Given the description of an element on the screen output the (x, y) to click on. 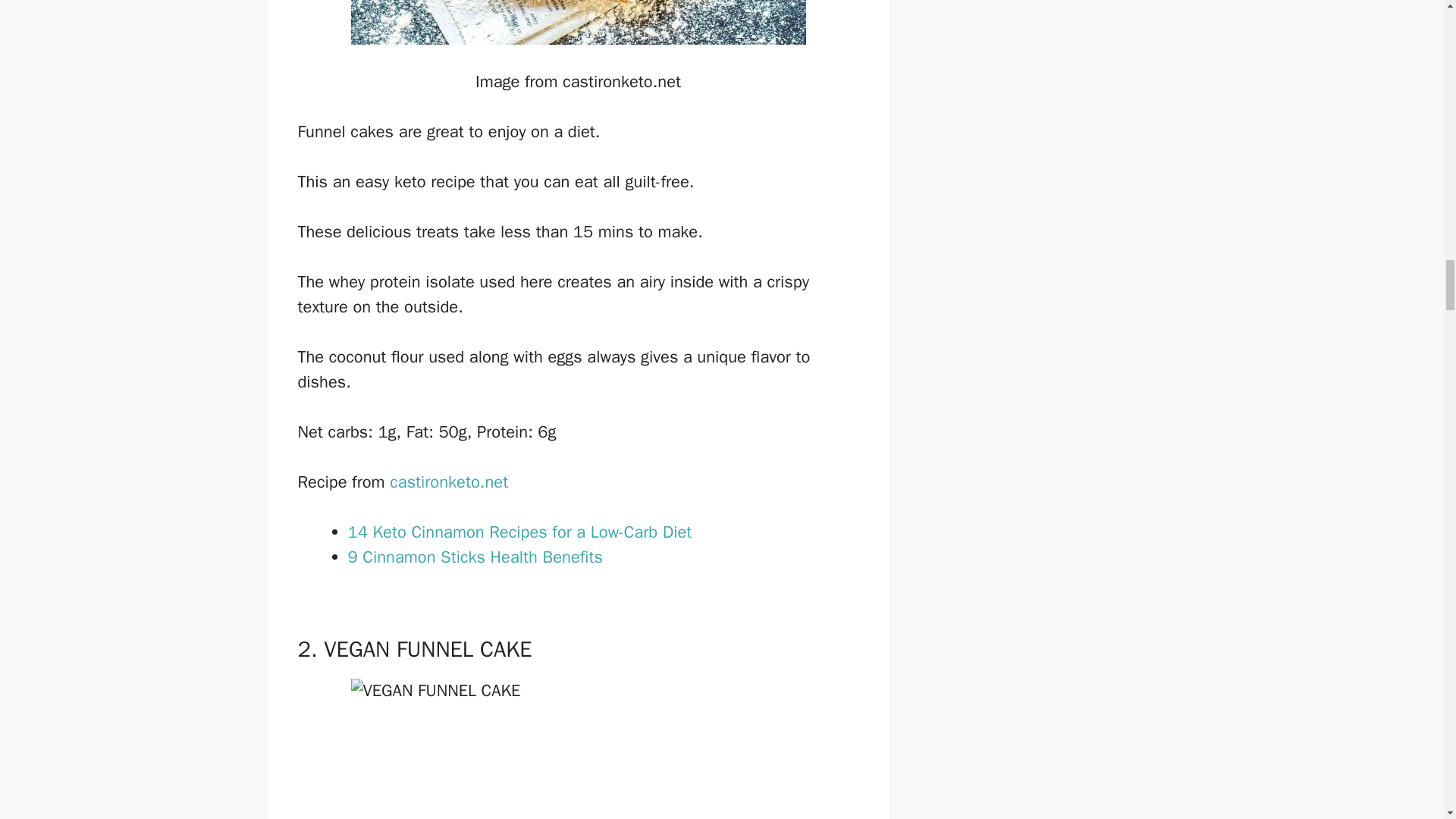
castironketo.net (449, 482)
9 Cinnamon Sticks Health Benefits (474, 557)
14 Keto Cinnamon Recipes for a Low-Carb Diet (519, 531)
